Given the description of an element on the screen output the (x, y) to click on. 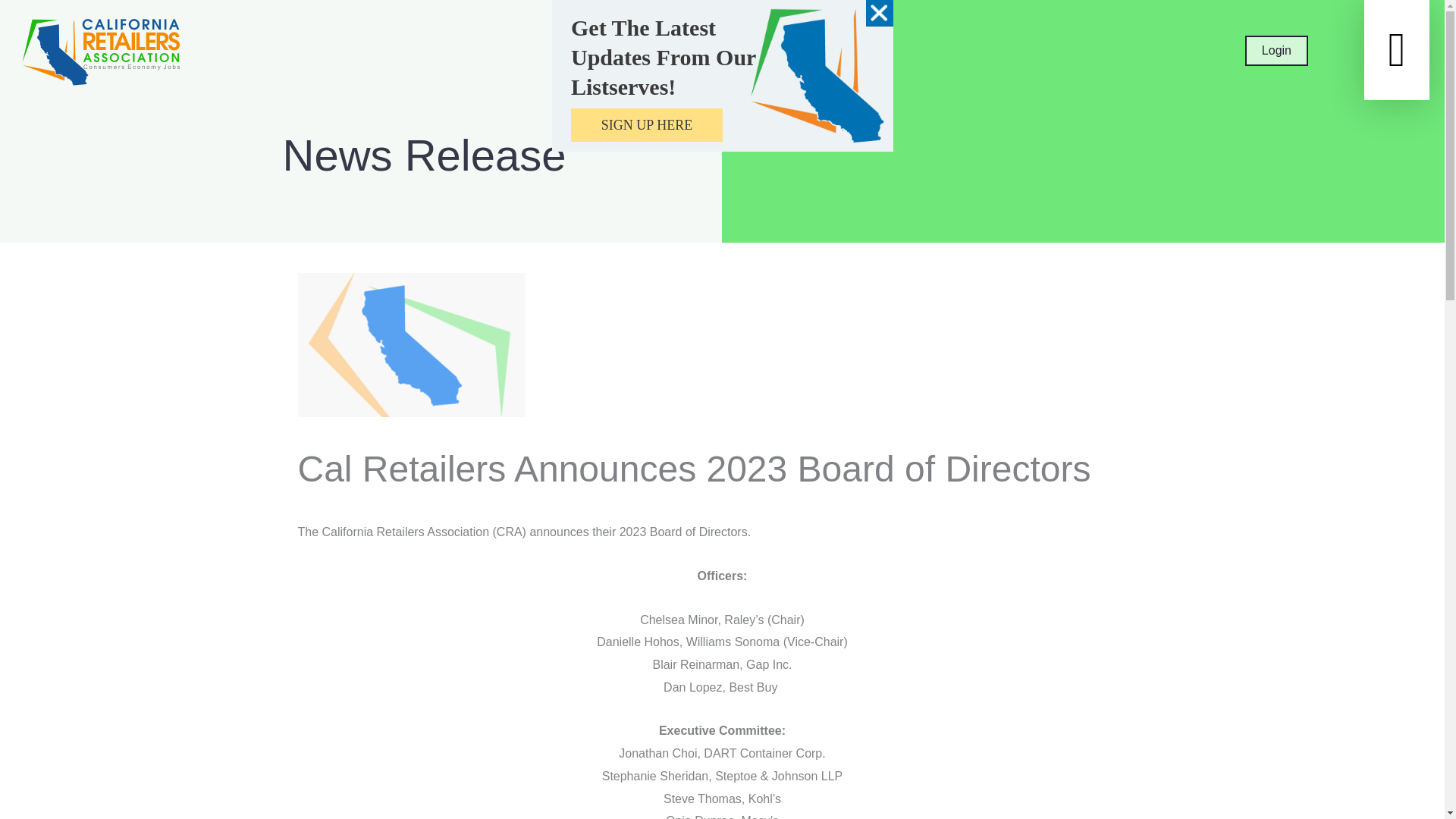
Login (1275, 51)
